Given the description of an element on the screen output the (x, y) to click on. 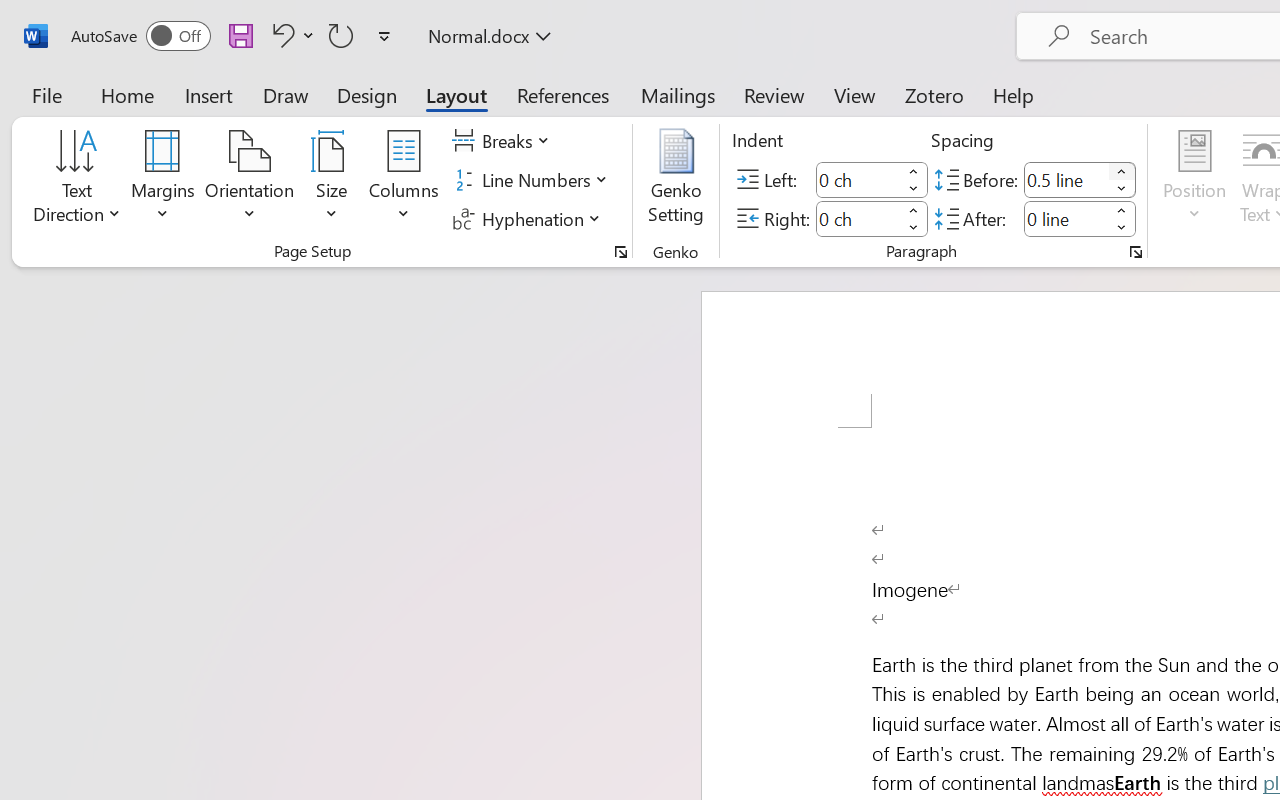
Spacing Before (1066, 179)
Less (1121, 227)
Line Numbers (532, 179)
Orientation (250, 179)
